Given the description of an element on the screen output the (x, y) to click on. 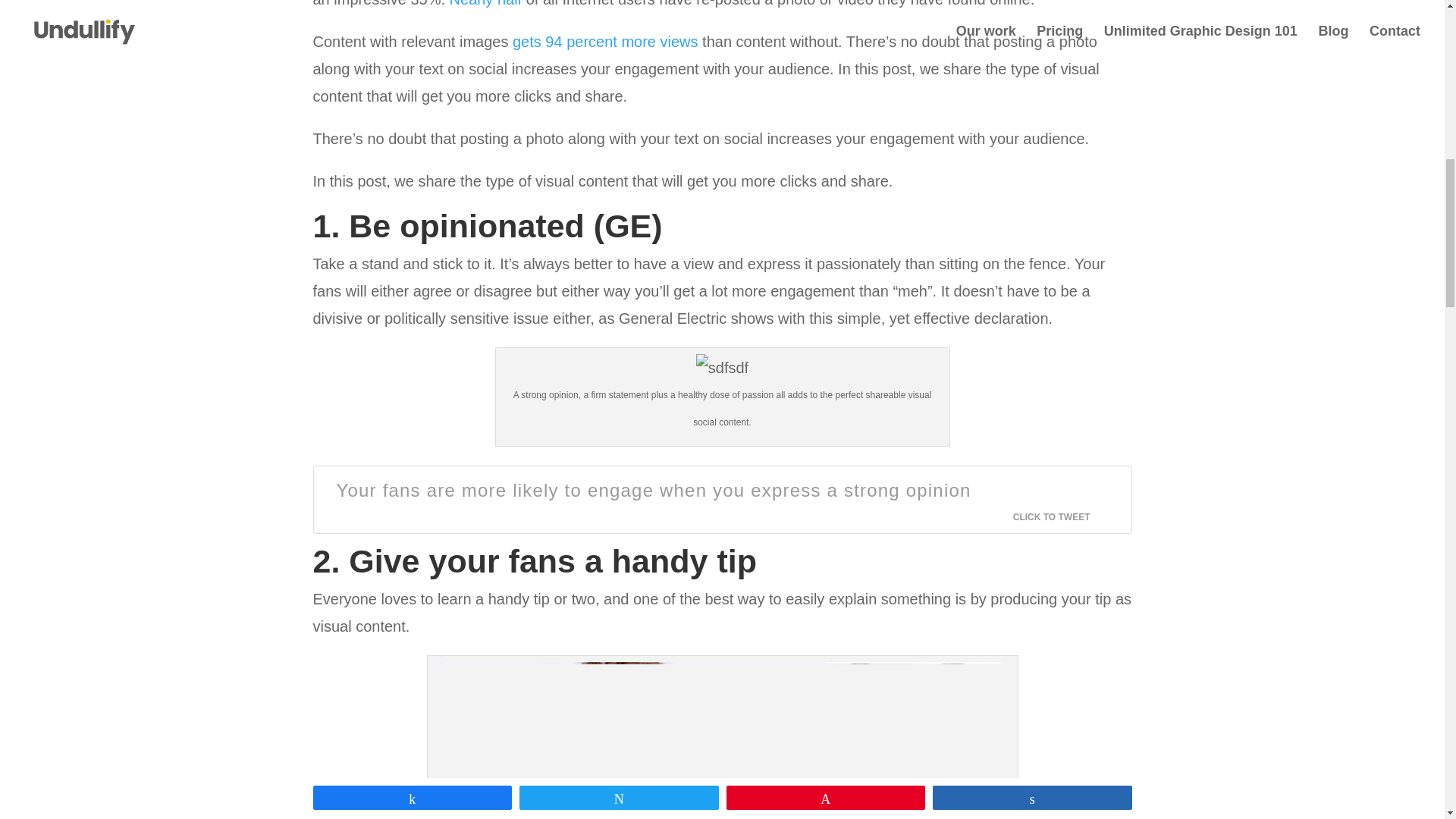
gets 94 percent more views (605, 41)
CLICK TO TWEET (1060, 516)
Nearly half (485, 3)
